Given the description of an element on the screen output the (x, y) to click on. 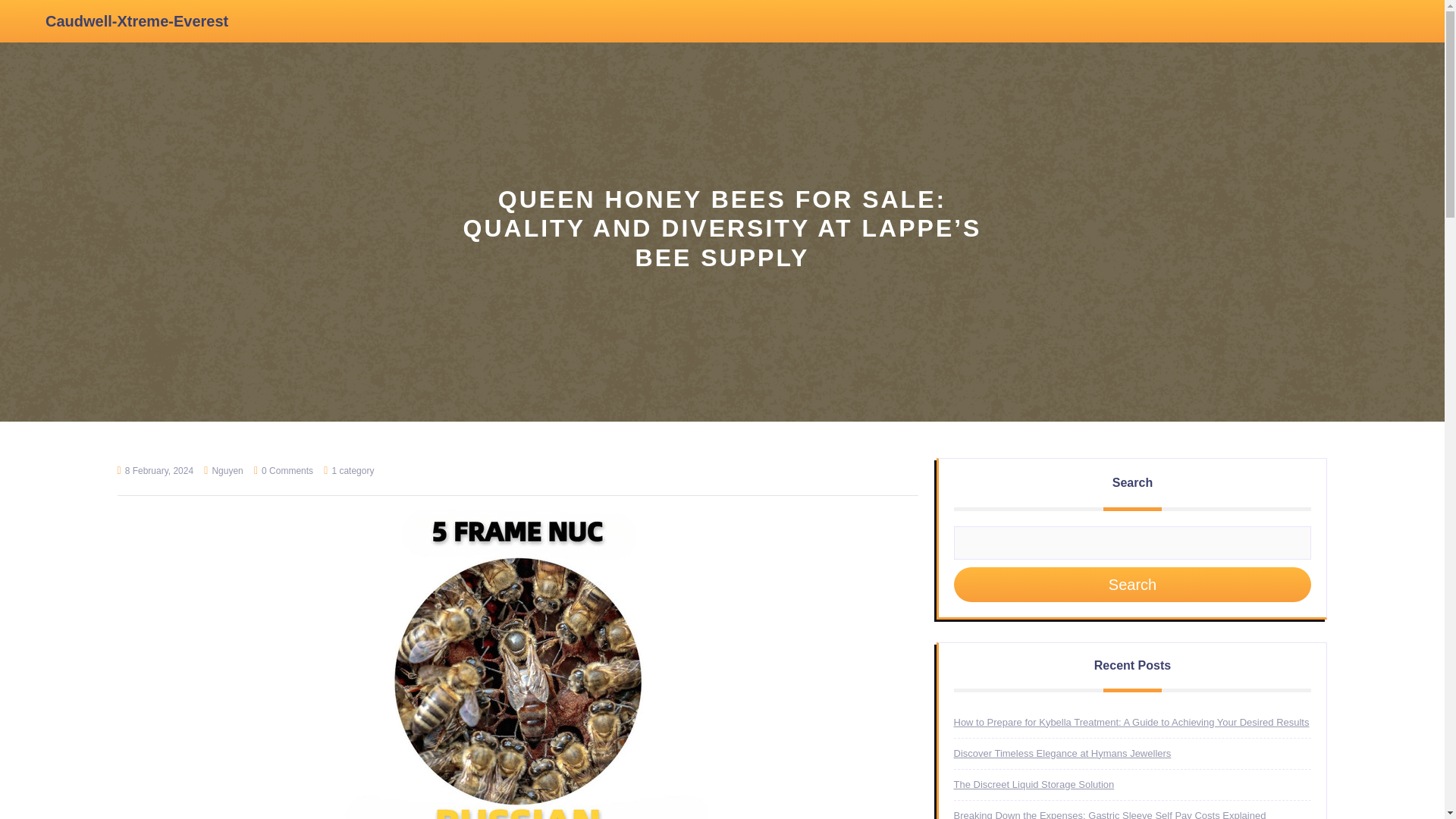
Discover Timeless Elegance at Hymans Jewellers (1062, 753)
The Discreet Liquid Storage Solution (1034, 784)
Search (1132, 584)
Caudwell-Xtreme-Everest (136, 21)
